Given the description of an element on the screen output the (x, y) to click on. 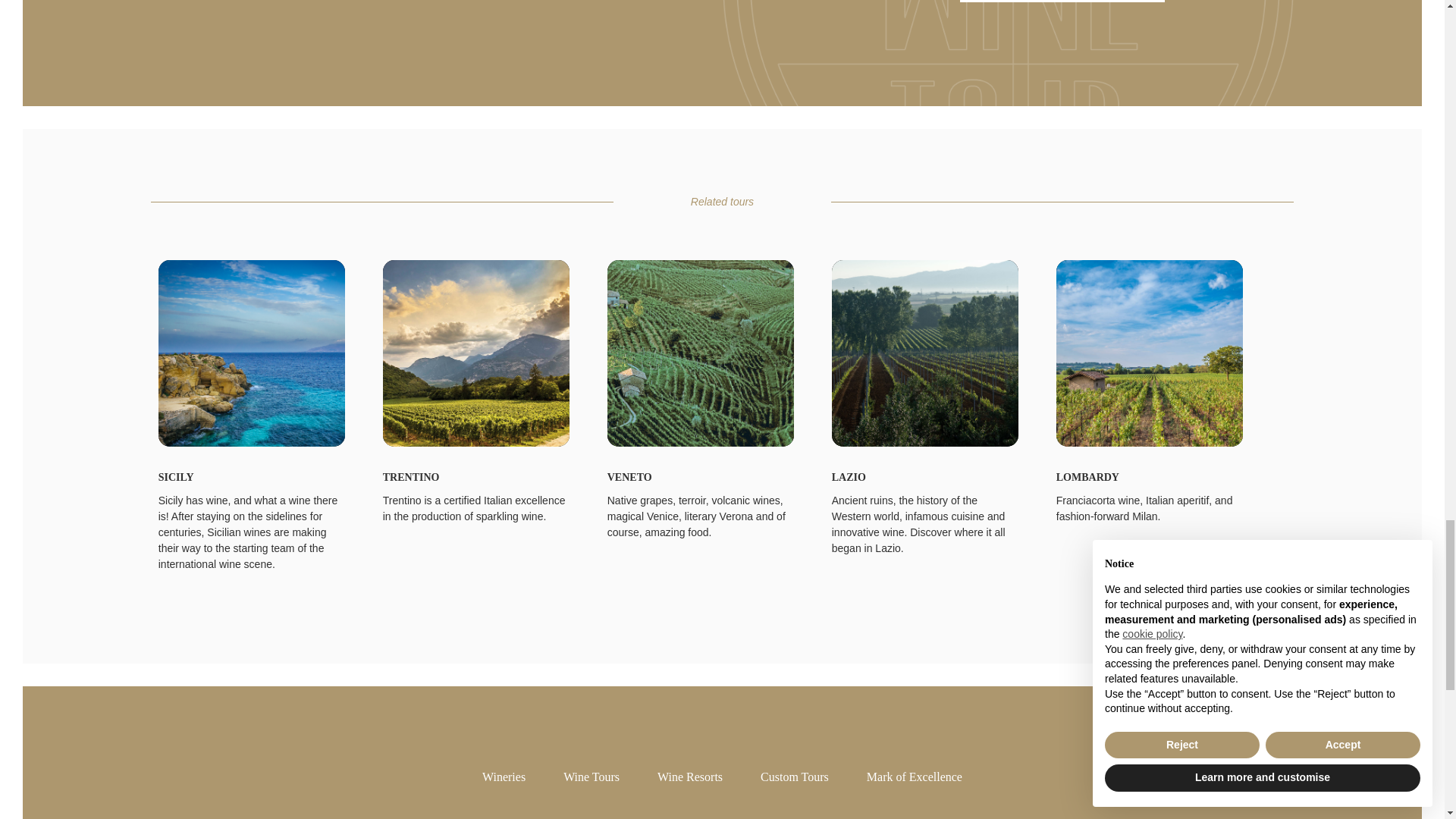
Wineries (503, 776)
Request your custom tour (1061, 1)
